Given the description of an element on the screen output the (x, y) to click on. 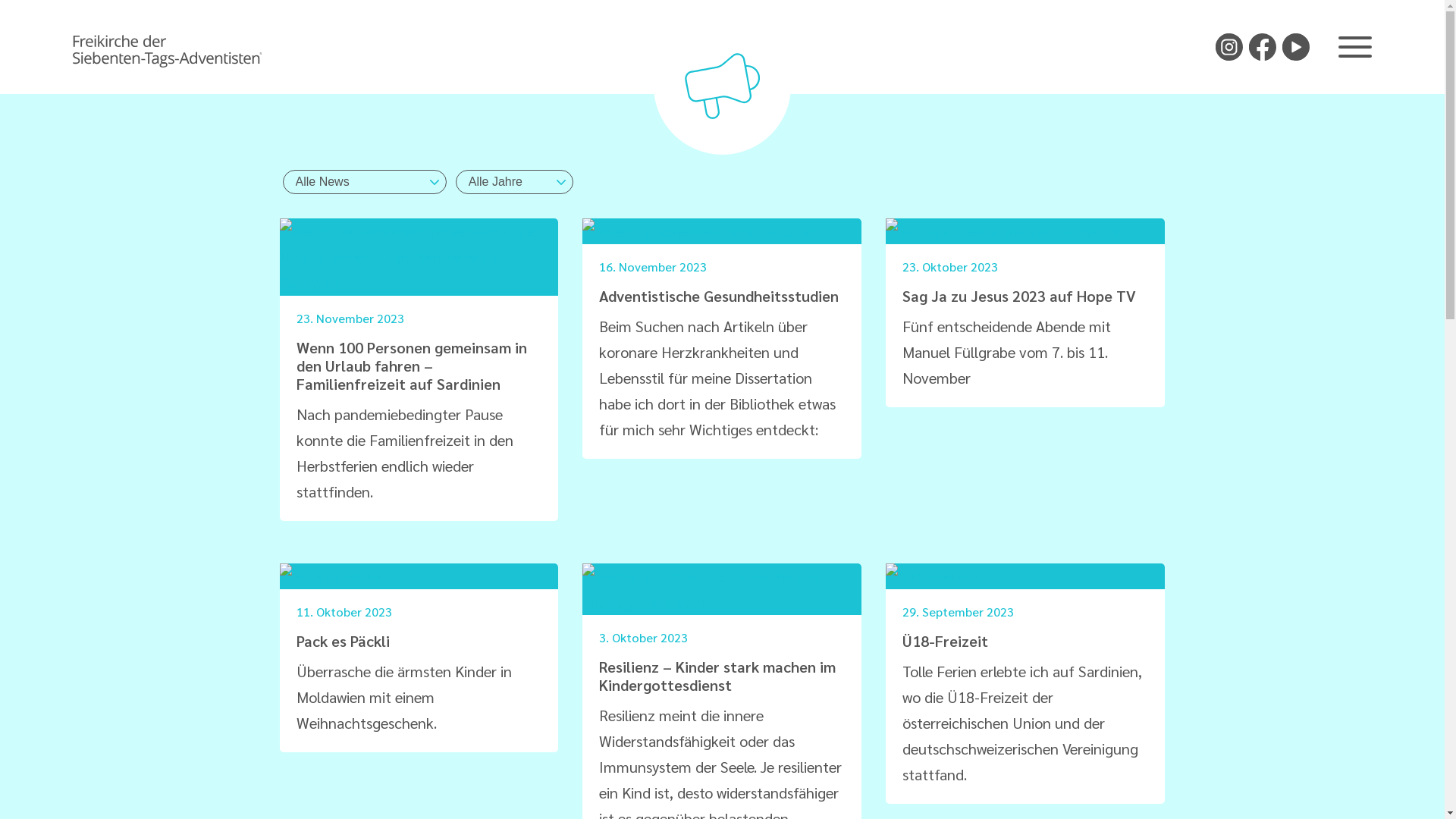
Adventistische Gesundheitsstudien Element type: text (718, 295)
Sag Ja zu Jesus 2023 auf Hope TV Element type: text (1018, 295)
